Given the description of an element on the screen output the (x, y) to click on. 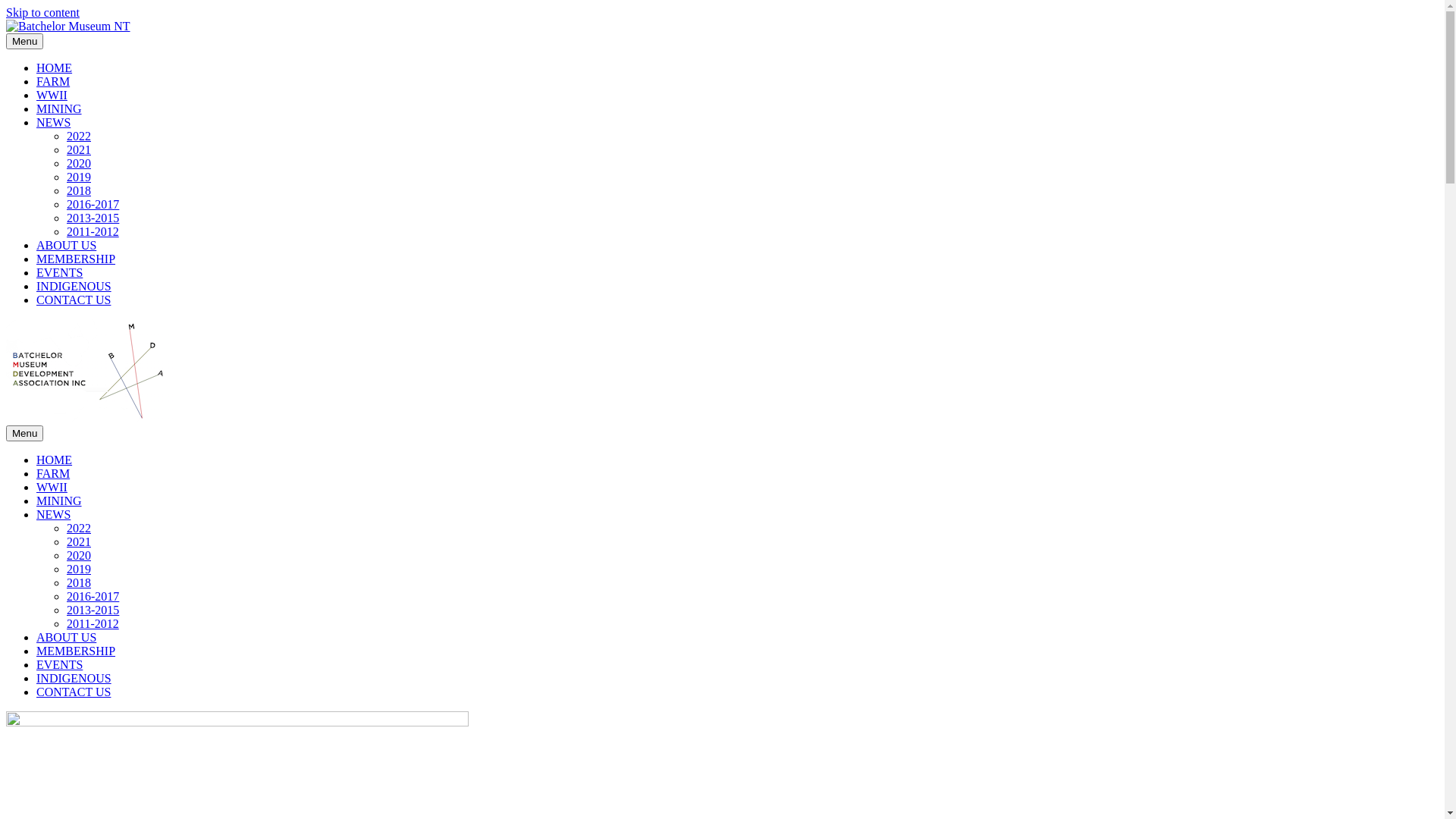
2018 Element type: text (78, 582)
2019 Element type: text (78, 568)
EVENTS Element type: text (59, 272)
HOME Element type: text (54, 459)
2022 Element type: text (78, 135)
MEMBERSHIP Element type: text (75, 258)
NEWS Element type: text (53, 122)
2013-2015 Element type: text (92, 609)
HOME Element type: text (54, 67)
EVENTS Element type: text (59, 664)
2021 Element type: text (78, 149)
Skip to content Element type: text (42, 12)
2016-2017 Element type: text (92, 595)
FARM Element type: text (52, 81)
2011-2012 Element type: text (92, 231)
Menu Element type: text (24, 433)
WWII Element type: text (51, 94)
2019 Element type: text (78, 176)
ABOUT US Element type: text (66, 636)
MINING Element type: text (58, 108)
2013-2015 Element type: text (92, 217)
CONTACT US Element type: text (73, 691)
MINING Element type: text (58, 500)
2018 Element type: text (78, 190)
2011-2012 Element type: text (92, 623)
FARM Element type: text (52, 473)
NEWS Element type: text (53, 514)
WWII Element type: text (51, 486)
INDIGENOUS Element type: text (73, 677)
INDIGENOUS Element type: text (73, 285)
2020 Element type: text (78, 162)
2021 Element type: text (78, 541)
ABOUT US Element type: text (66, 244)
2020 Element type: text (78, 555)
MEMBERSHIP Element type: text (75, 650)
Menu Element type: text (24, 41)
2016-2017 Element type: text (92, 203)
CONTACT US Element type: text (73, 299)
2022 Element type: text (78, 527)
